Given the description of an element on the screen output the (x, y) to click on. 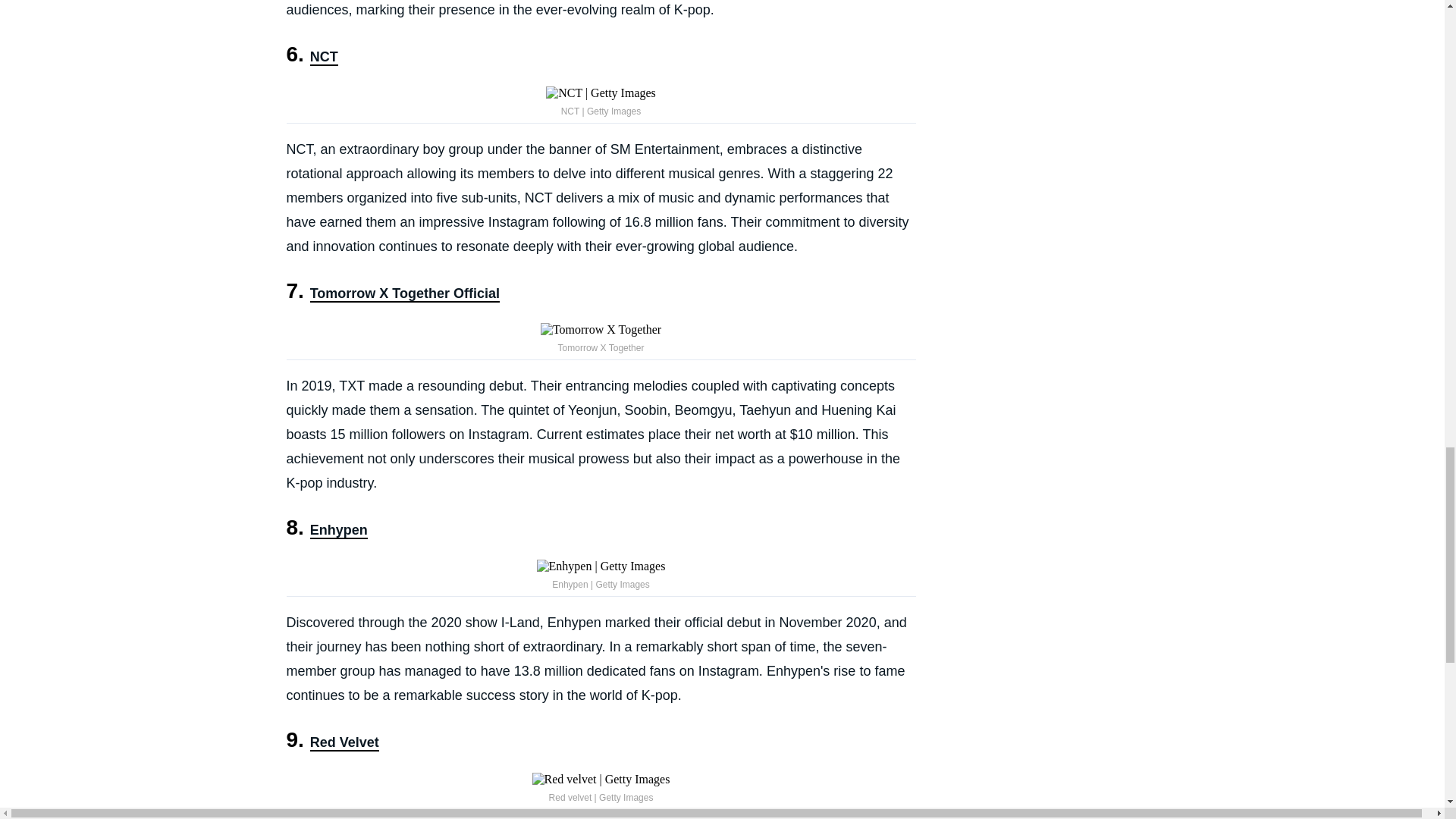
Enhypen (339, 530)
Tomorrow X Together Official (404, 293)
NCT (323, 57)
Red Velvet (344, 742)
